Given the description of an element on the screen output the (x, y) to click on. 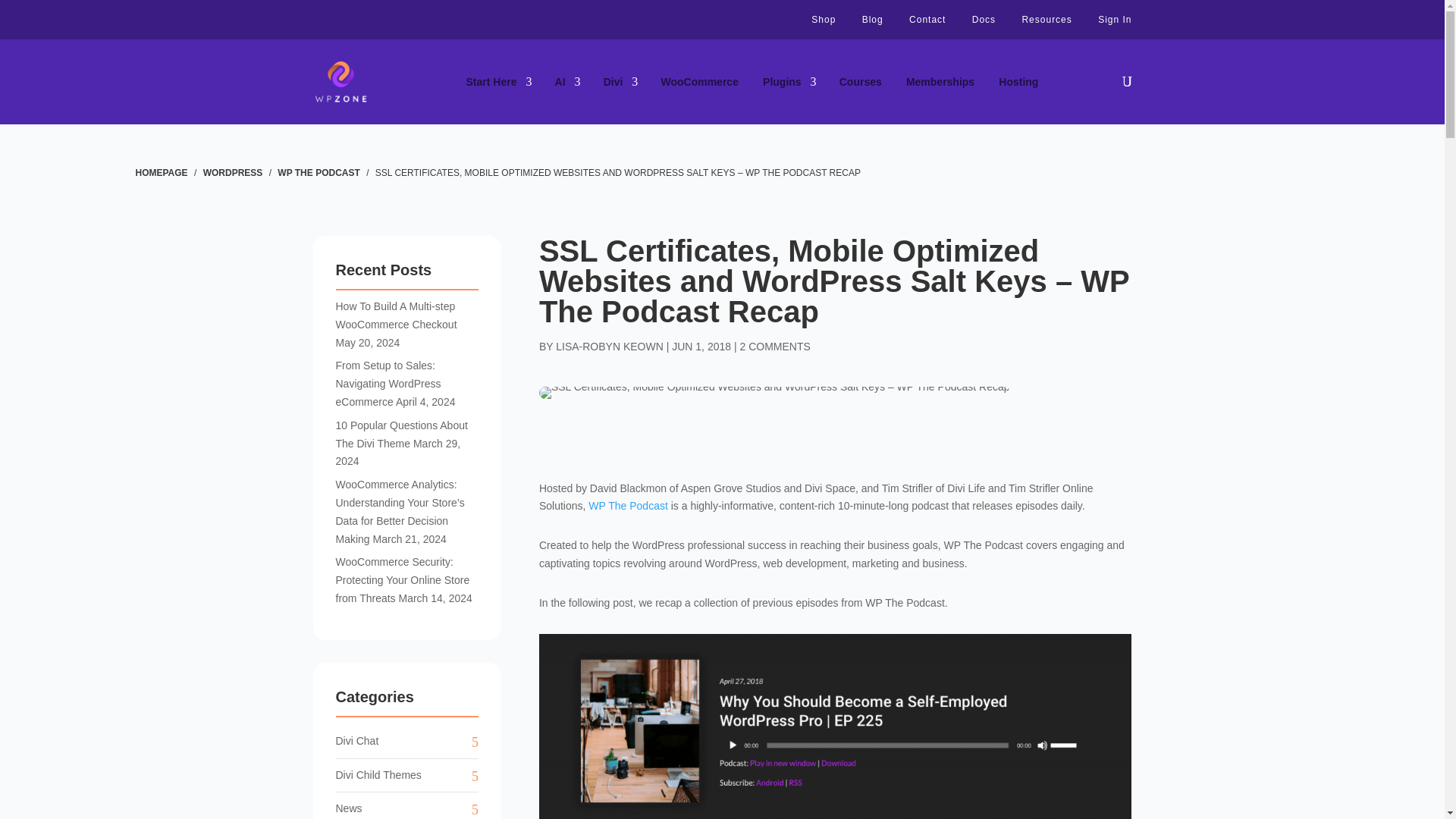
Hosting (1018, 81)
Courses (860, 81)
Go to the WordPress category archives. (233, 172)
Posts by Lisa-Robyn Keown (609, 346)
Plugins (788, 81)
Memberships (939, 81)
Divi (620, 81)
AI (566, 81)
WooCommerce (699, 81)
Resources (1046, 19)
